Given the description of an element on the screen output the (x, y) to click on. 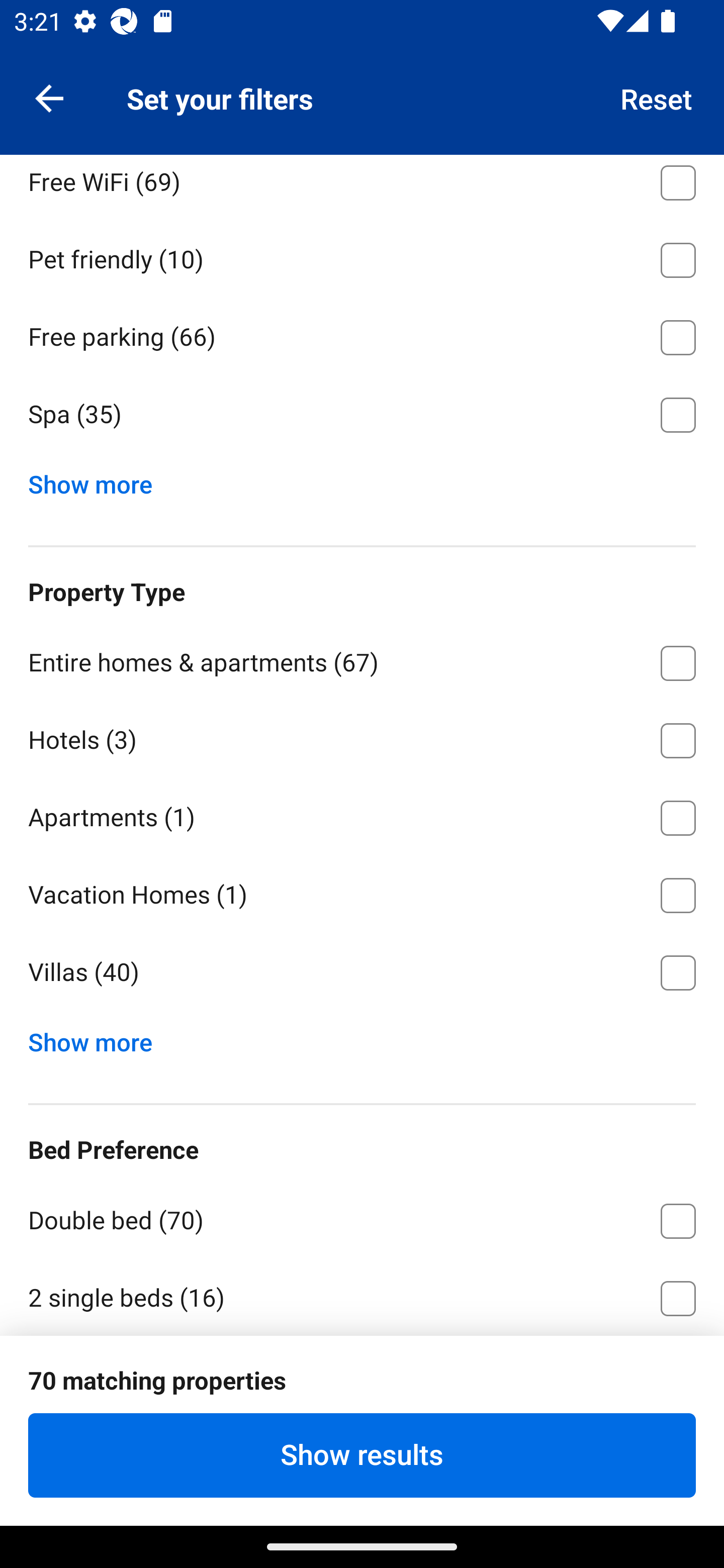
Navigate up (49, 97)
Reset (656, 97)
Swimming pool ⁦(68) (361, 101)
Free WiFi ⁦(69) (361, 186)
Pet friendly ⁦(10) (361, 255)
Free parking ⁦(66) (361, 333)
Spa ⁦(35) (361, 415)
Show more (97, 480)
Entire homes & apartments ⁦(67) (361, 659)
Hotels ⁦(3) (361, 737)
Apartments ⁦(1) (361, 814)
Vacation Homes ⁦(1) (361, 891)
Villas ⁦(40) (361, 972)
Show more (97, 1037)
Double bed ⁦(70) (361, 1217)
2 single beds ⁦(16) (361, 1295)
Show results (361, 1454)
